Given the description of an element on the screen output the (x, y) to click on. 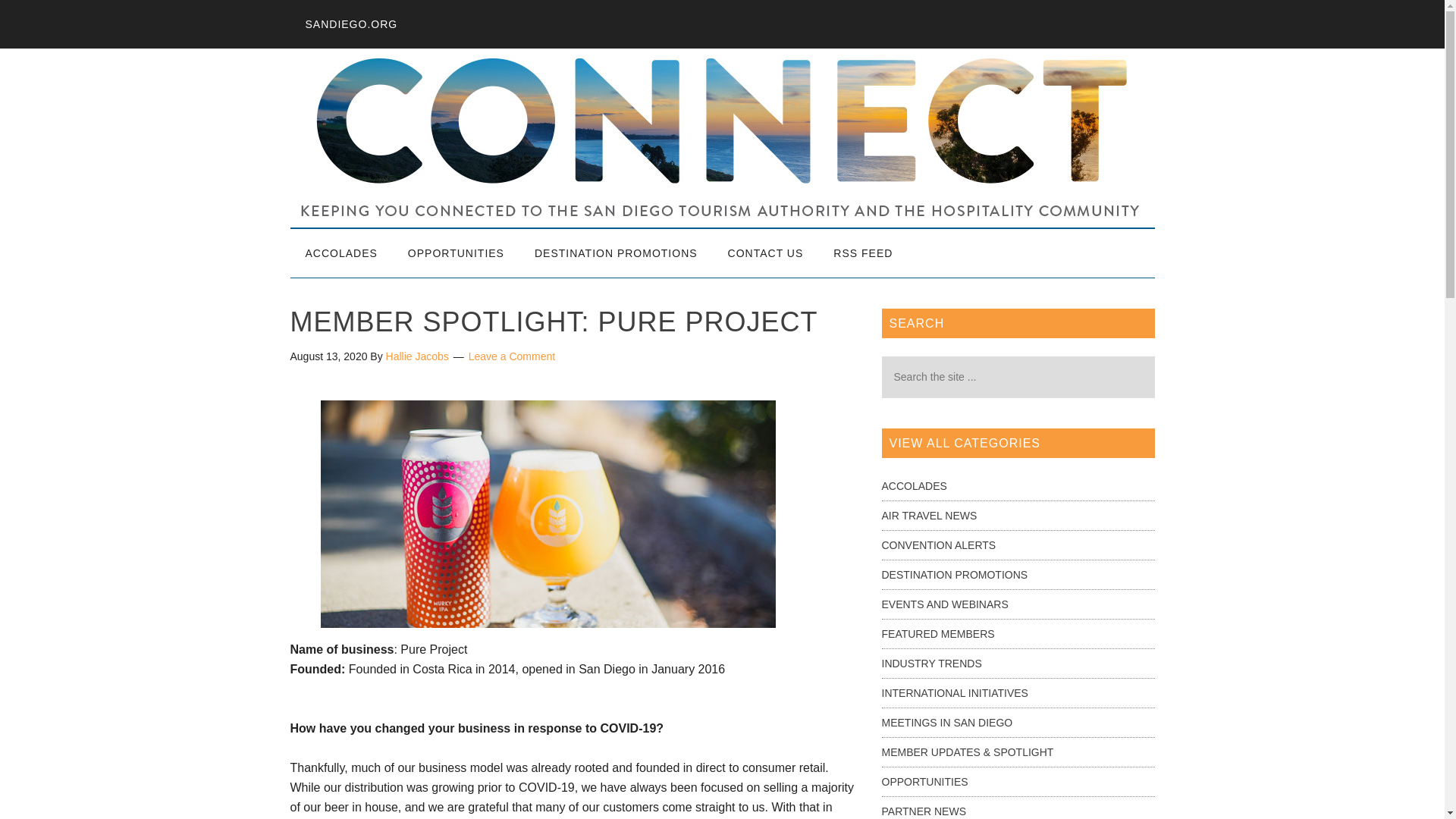
RSS Feed (862, 253)
FEATURED MEMBERS (937, 633)
PARTNER NEWS (923, 811)
AIR TRAVEL NEWS (928, 515)
Hallie Jacobs (416, 356)
INTERNATIONAL INITIATIVES (953, 693)
Leave a Comment (511, 356)
DESTINATION PROMOTIONS (953, 574)
